Given the description of an element on the screen output the (x, y) to click on. 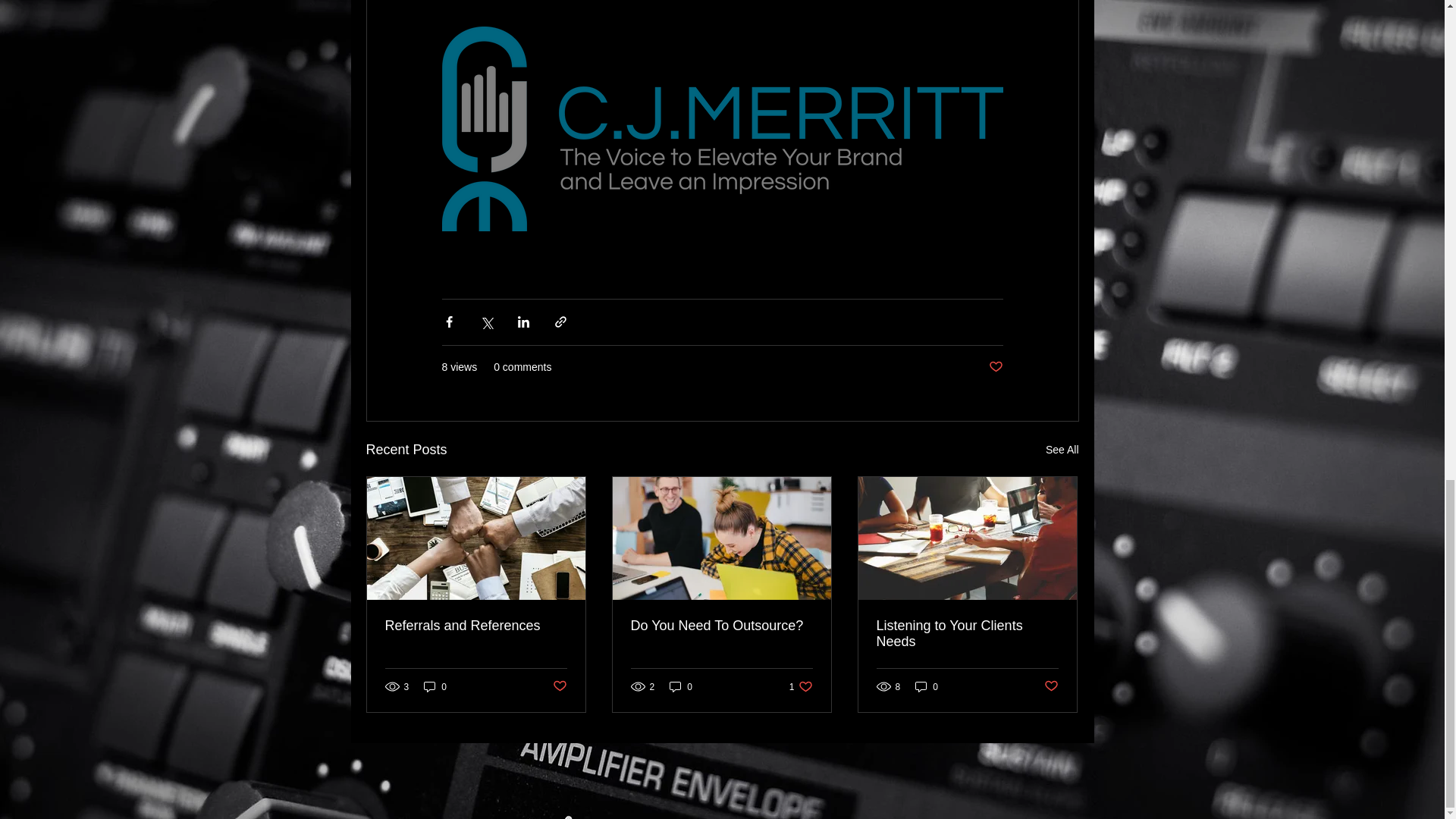
0 (926, 686)
0 (435, 686)
Listening to Your Clients Needs (967, 634)
See All (800, 686)
Post not marked as liked (1061, 449)
Do You Need To Outsource? (1050, 686)
Post not marked as liked (721, 625)
Post not marked as liked (558, 686)
0 (995, 367)
